Given the description of an element on the screen output the (x, y) to click on. 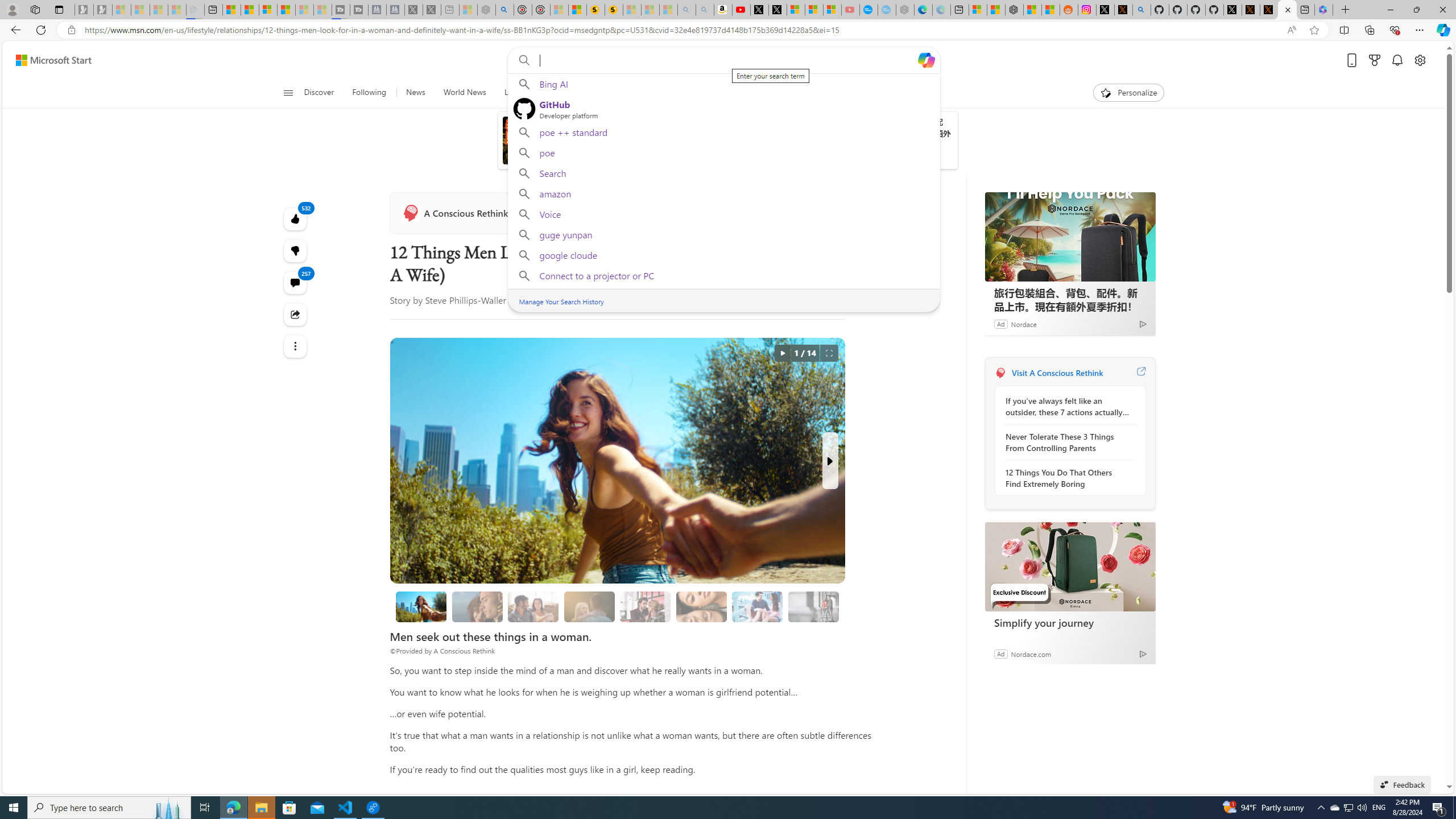
Full screen (828, 352)
Crime (653, 92)
Open navigation menu (287, 92)
Never Tolerate These 3 Things From Controlling Parents (1066, 441)
Follow (538, 213)
Opinion: Op-Ed and Commentary - USA TODAY (868, 9)
